Given the description of an element on the screen output the (x, y) to click on. 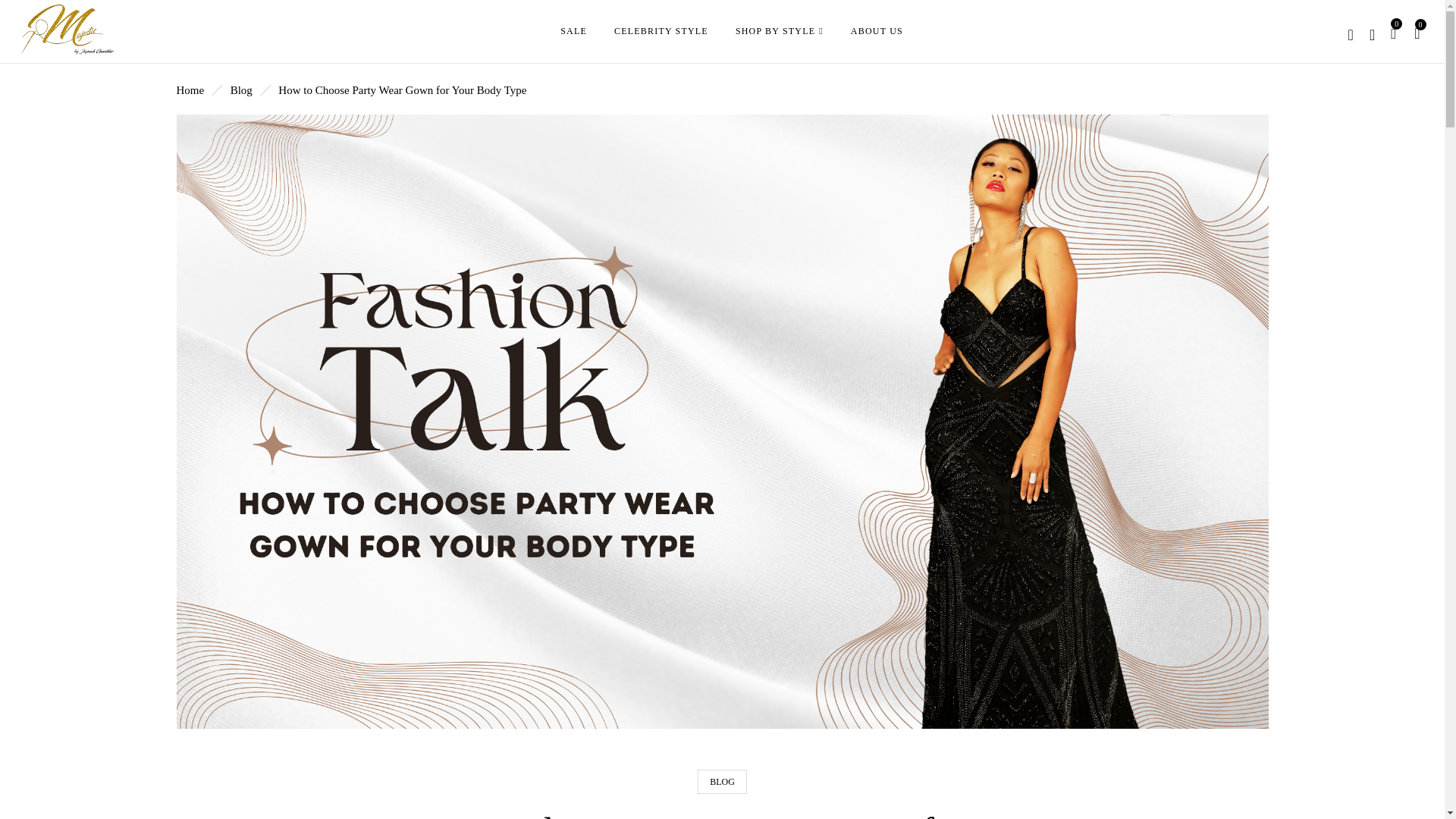
SHOP BY STYLE (779, 31)
CELEBRITY STYLE (660, 31)
Home (189, 90)
Blog (240, 90)
BLOG (721, 781)
SALE (573, 31)
ABOUT US (876, 31)
